Given the description of an element on the screen output the (x, y) to click on. 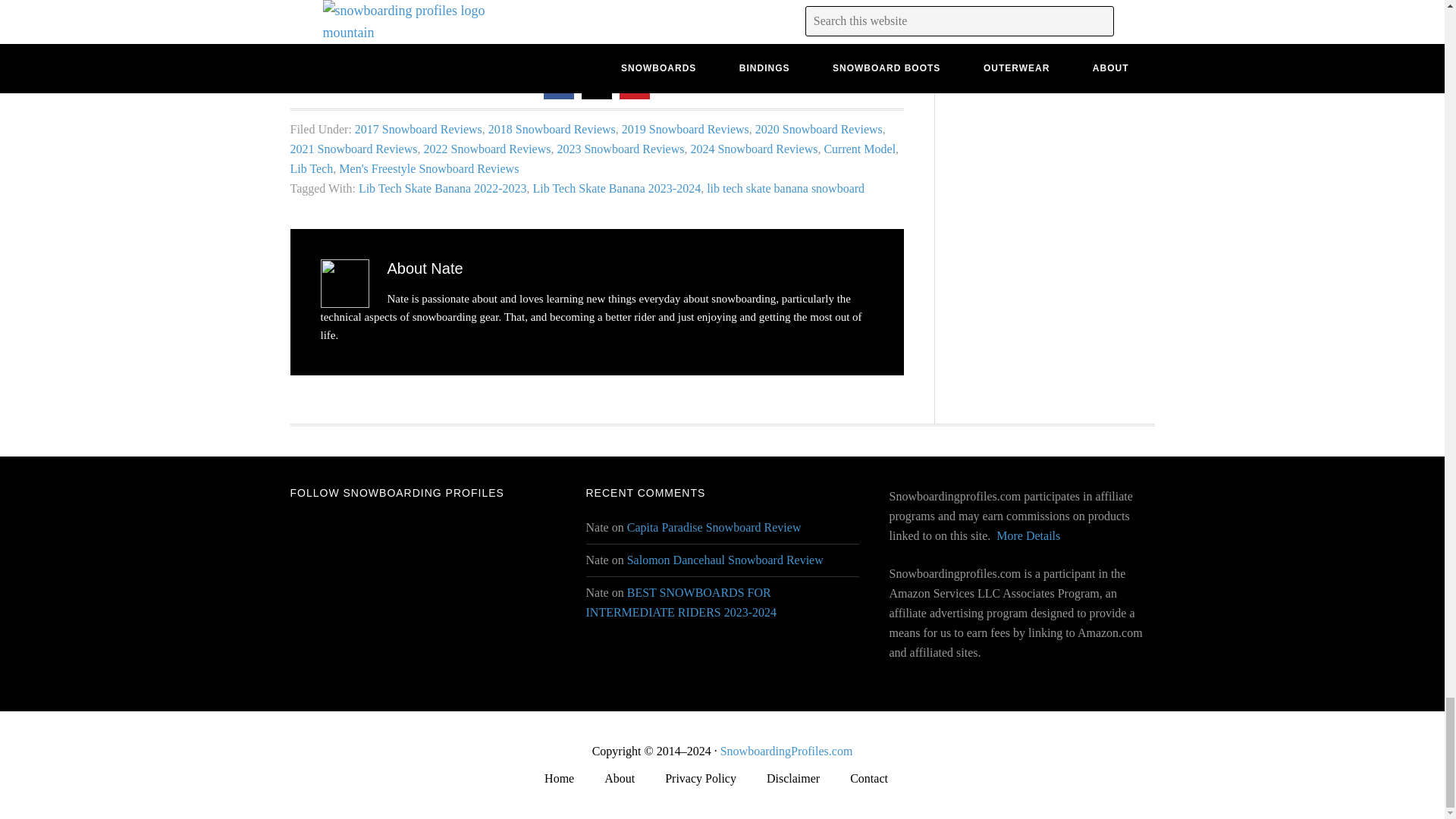
Share on Pinterest (634, 94)
Share on Facebook (558, 94)
Share on Twitter (595, 94)
